Given the description of an element on the screen output the (x, y) to click on. 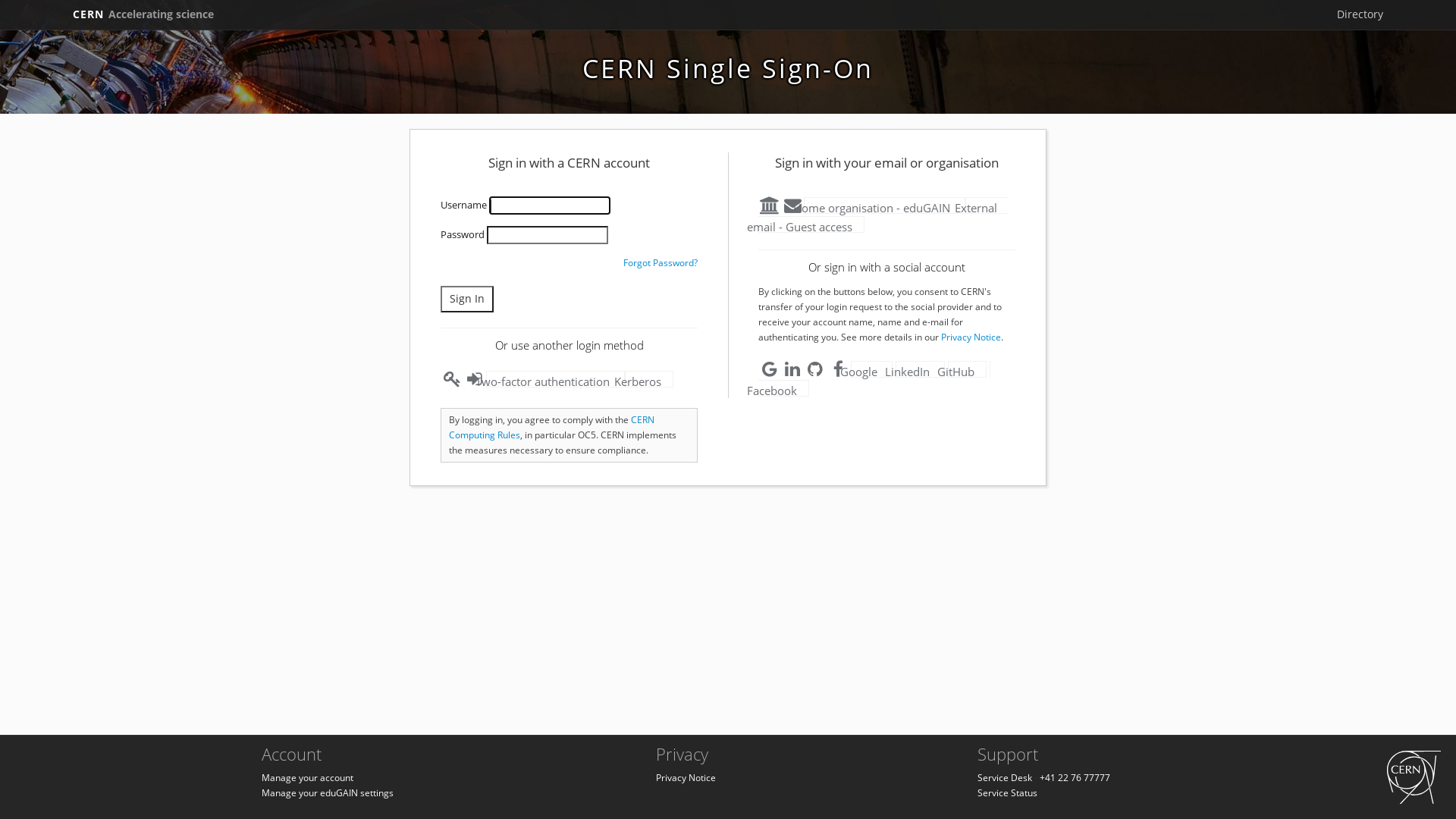
LinkedIn Element type: text (919, 368)
Directory Element type: text (1359, 14)
GitHub Element type: text (966, 368)
Service Status Element type: text (1007, 792)
Manage your account Element type: text (307, 777)
+41 22 76 77777 Element type: text (1074, 777)
Facebook Element type: text (874, 378)
Google Element type: text (871, 368)
Kerberos Element type: text (648, 378)
CERN Accelerating science Element type: text (142, 14)
Privacy Notice Element type: text (685, 777)
Forgot Password? Element type: text (660, 262)
Two-factor authentication Element type: text (555, 378)
CERN Computing Rules Element type: text (551, 427)
Sign In Element type: text (466, 298)
Service Desk Element type: text (1004, 777)
Manage your eduGAIN settings Element type: text (327, 792)
Privacy Notice Element type: text (971, 336)
Home organisation - eduGAIN Element type: text (884, 205)
External email - Guest access Element type: text (883, 214)
